Given the description of an element on the screen output the (x, y) to click on. 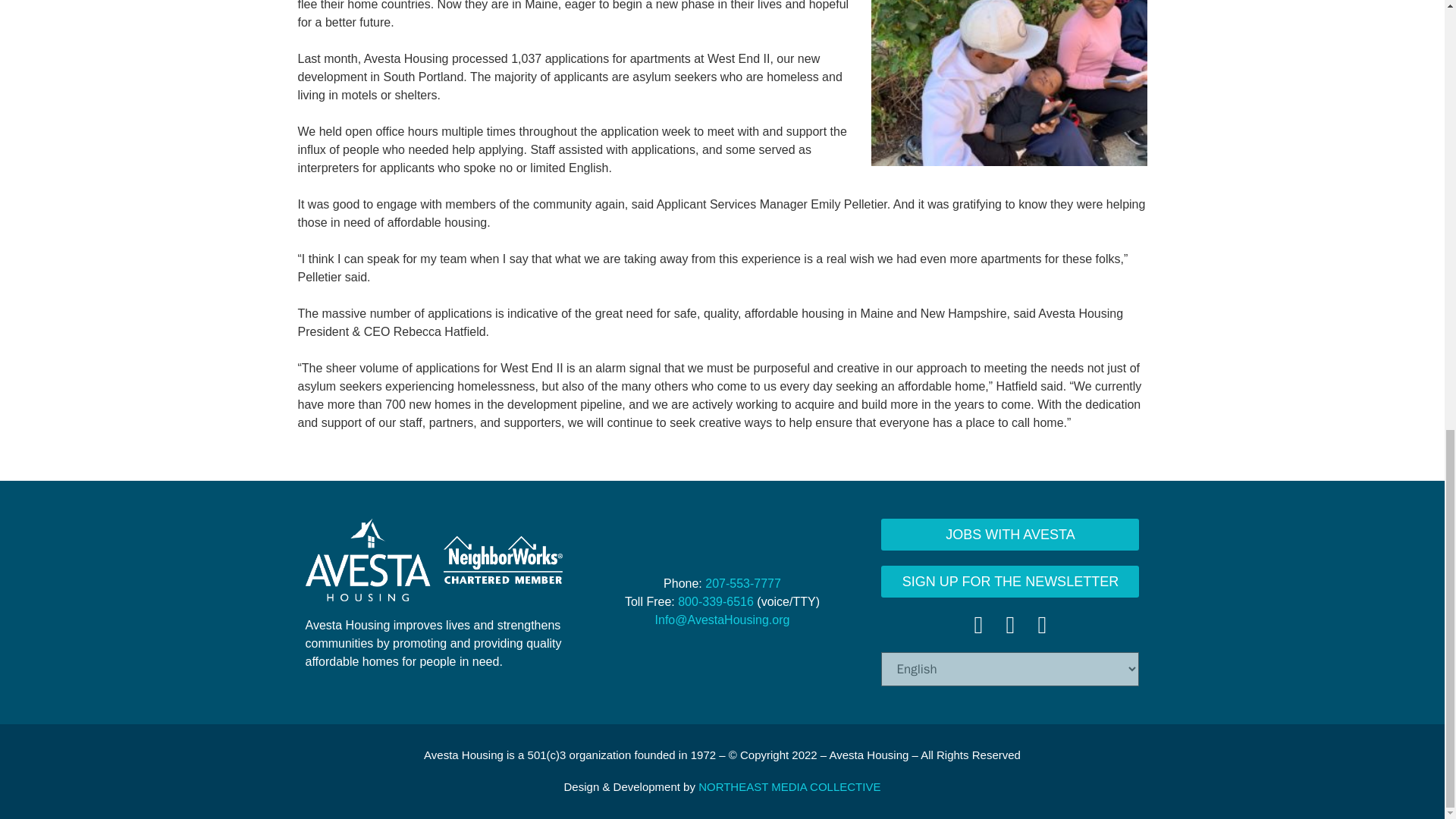
JOBS WITH AVESTA (1009, 533)
800-339-6516 (716, 601)
SIGN UP FOR THE NEWSLETTER (1009, 581)
207-553-7777 (742, 583)
